Given the description of an element on the screen output the (x, y) to click on. 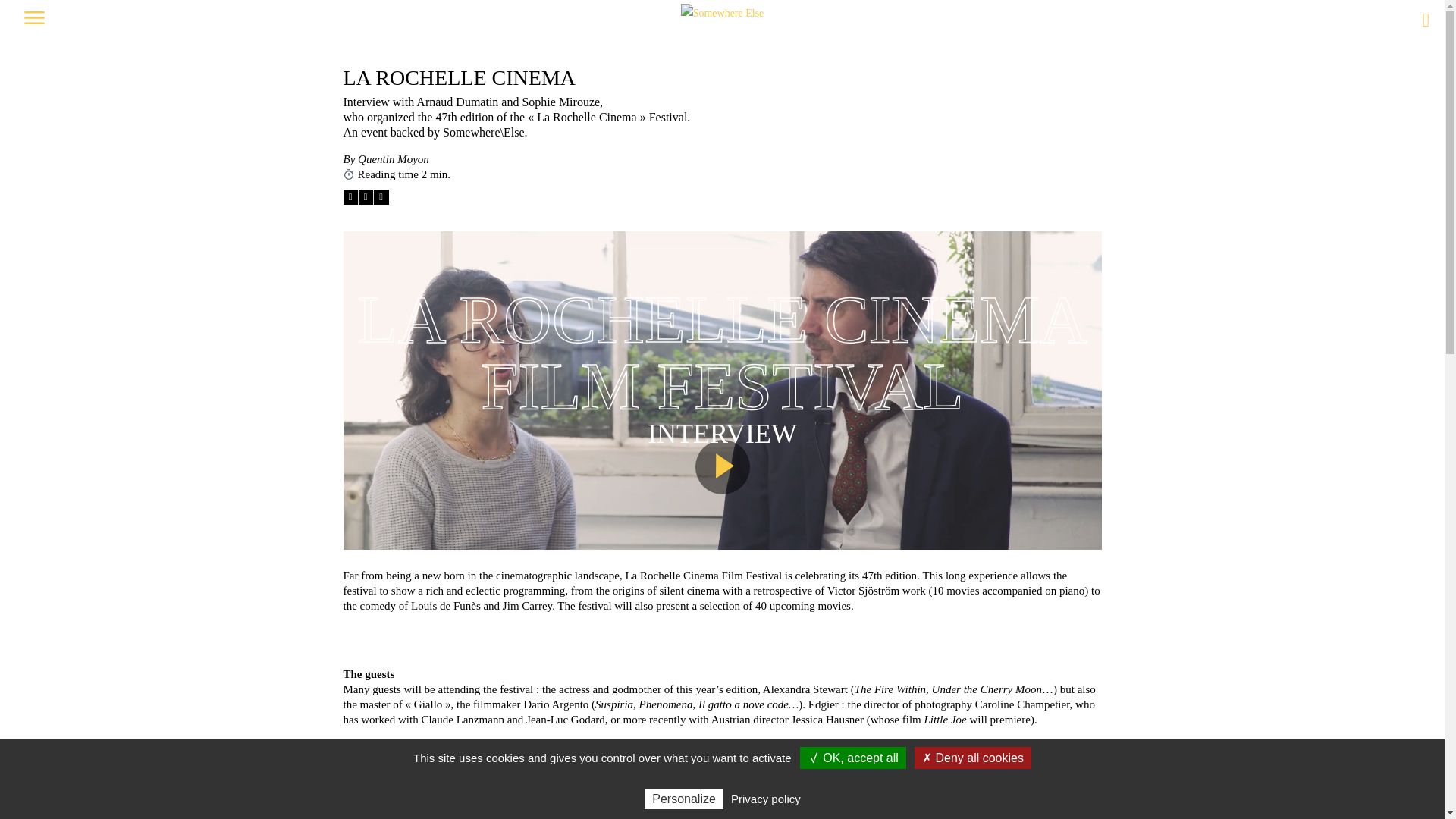
Share this (350, 196)
Tweet this (365, 196)
Share this (380, 196)
